Given the description of an element on the screen output the (x, y) to click on. 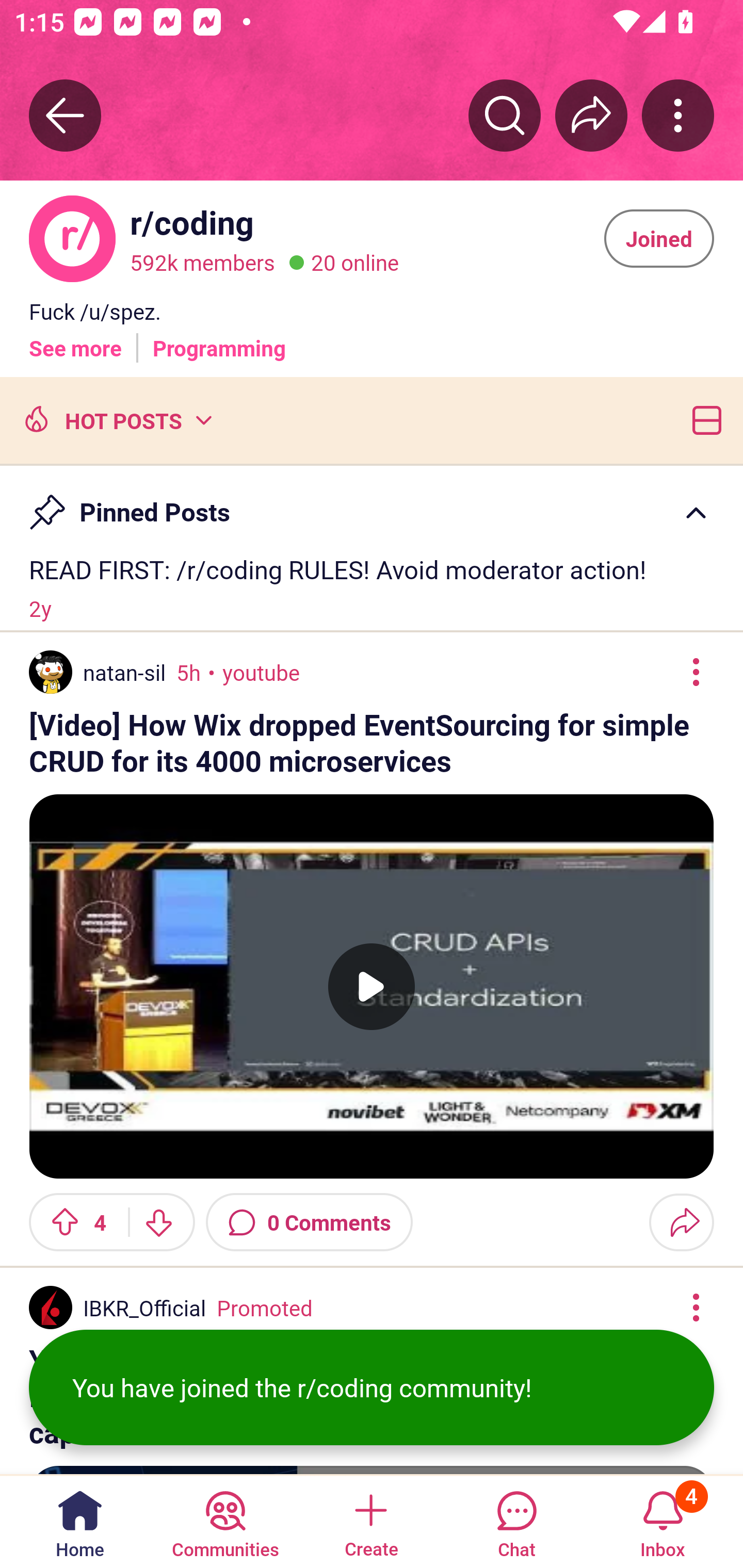
Back (64, 115)
Search r/﻿coding (504, 115)
Share r/﻿coding (591, 115)
More community actions (677, 115)
See more (74, 340)
Programming (219, 340)
Hot posts HOT POSTS (116, 419)
Card (703, 419)
Pin Pinned Posts Caret (371, 503)
Home (80, 1520)
Communities (225, 1520)
Create a post Create (370, 1520)
Chat (516, 1520)
Inbox, has 4 notifications 4 Inbox (662, 1520)
